Given the description of an element on the screen output the (x, y) to click on. 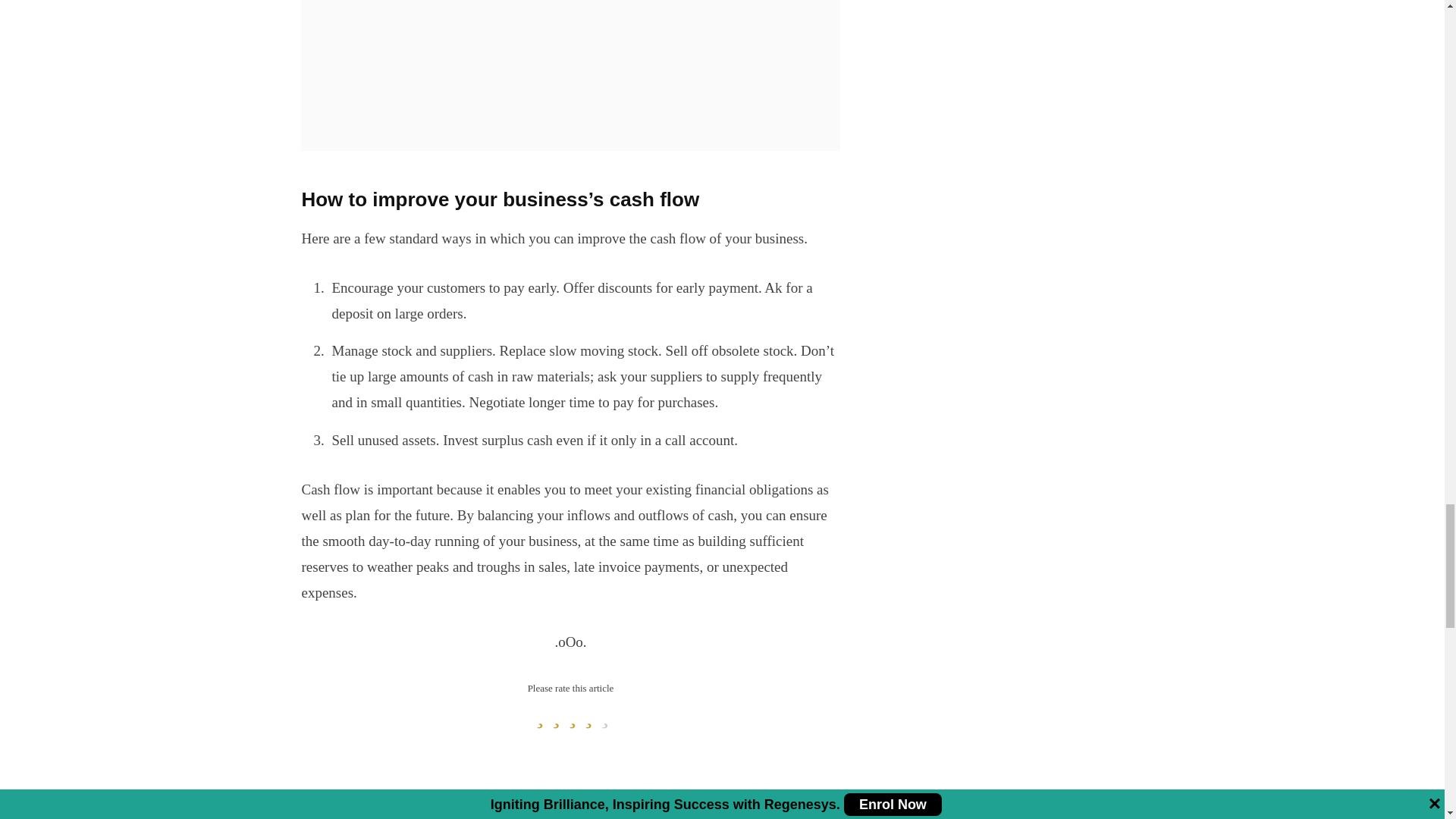
Share on Facebook (293, 814)
Pinterest (376, 814)
Share on Twitter (320, 814)
LinkedIn (348, 814)
